Given the description of an element on the screen output the (x, y) to click on. 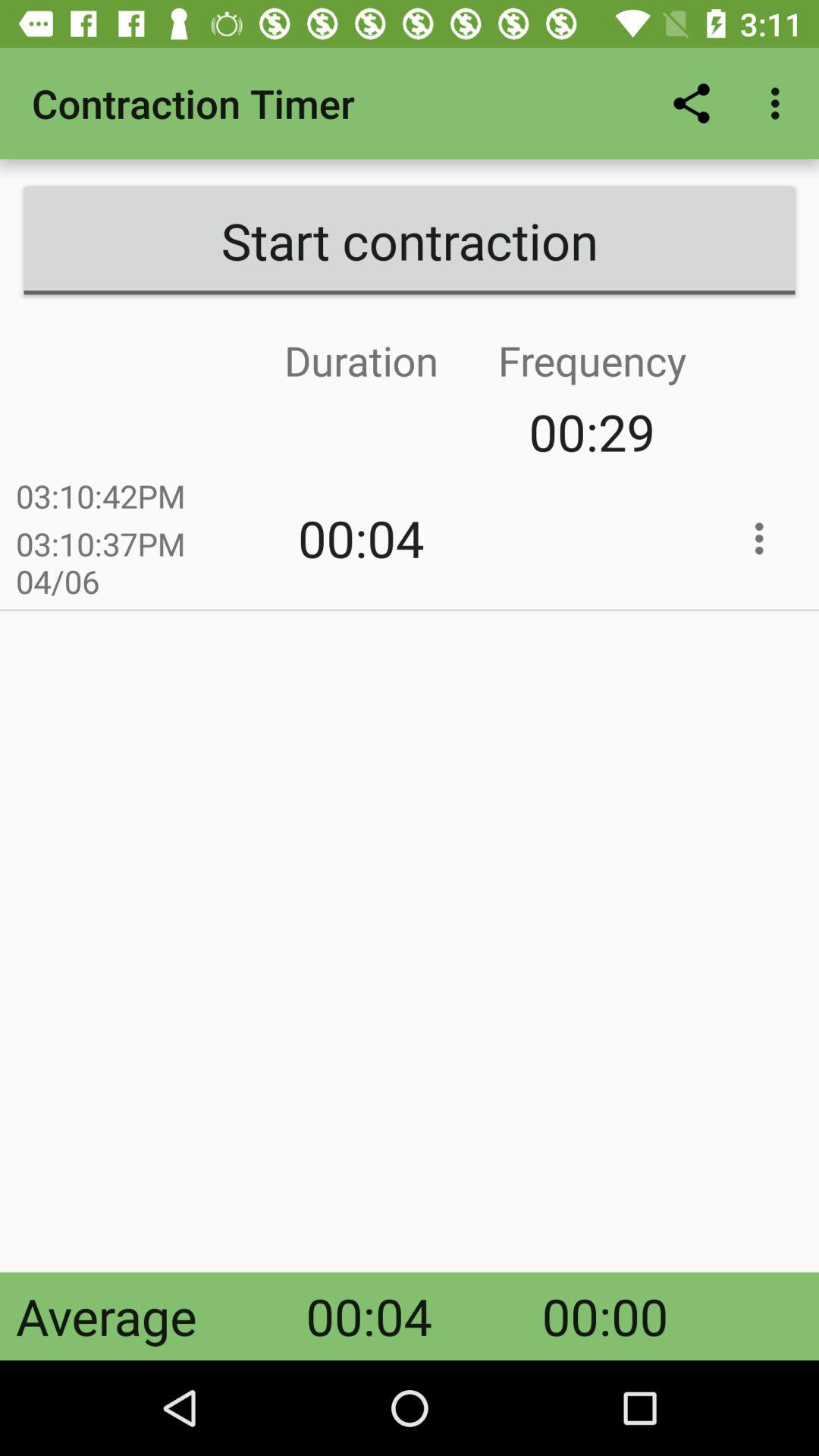
flip to start contraction item (409, 240)
